Given the description of an element on the screen output the (x, y) to click on. 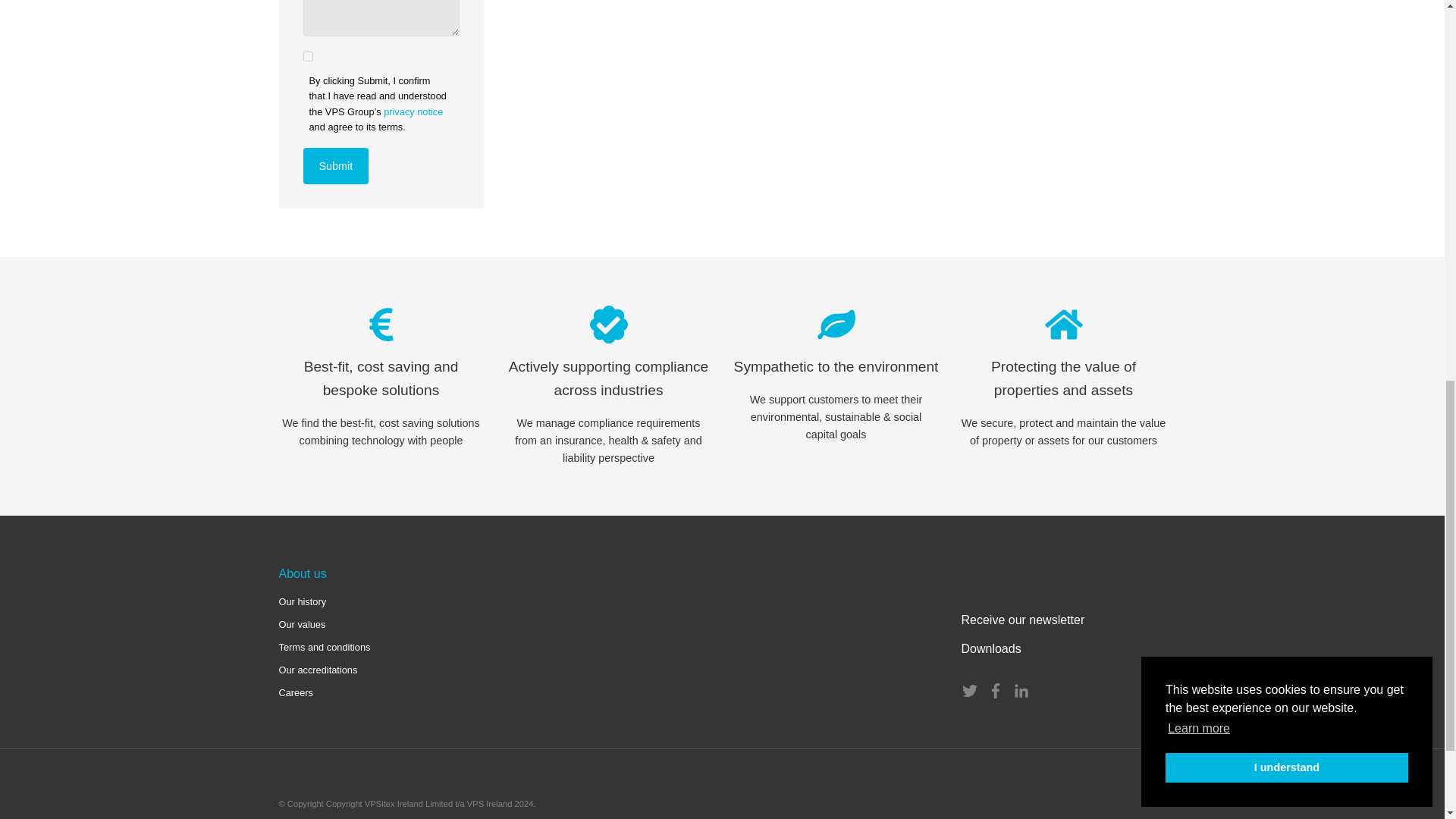
Privacy policy read and agreed to (307, 56)
